Given the description of an element on the screen output the (x, y) to click on. 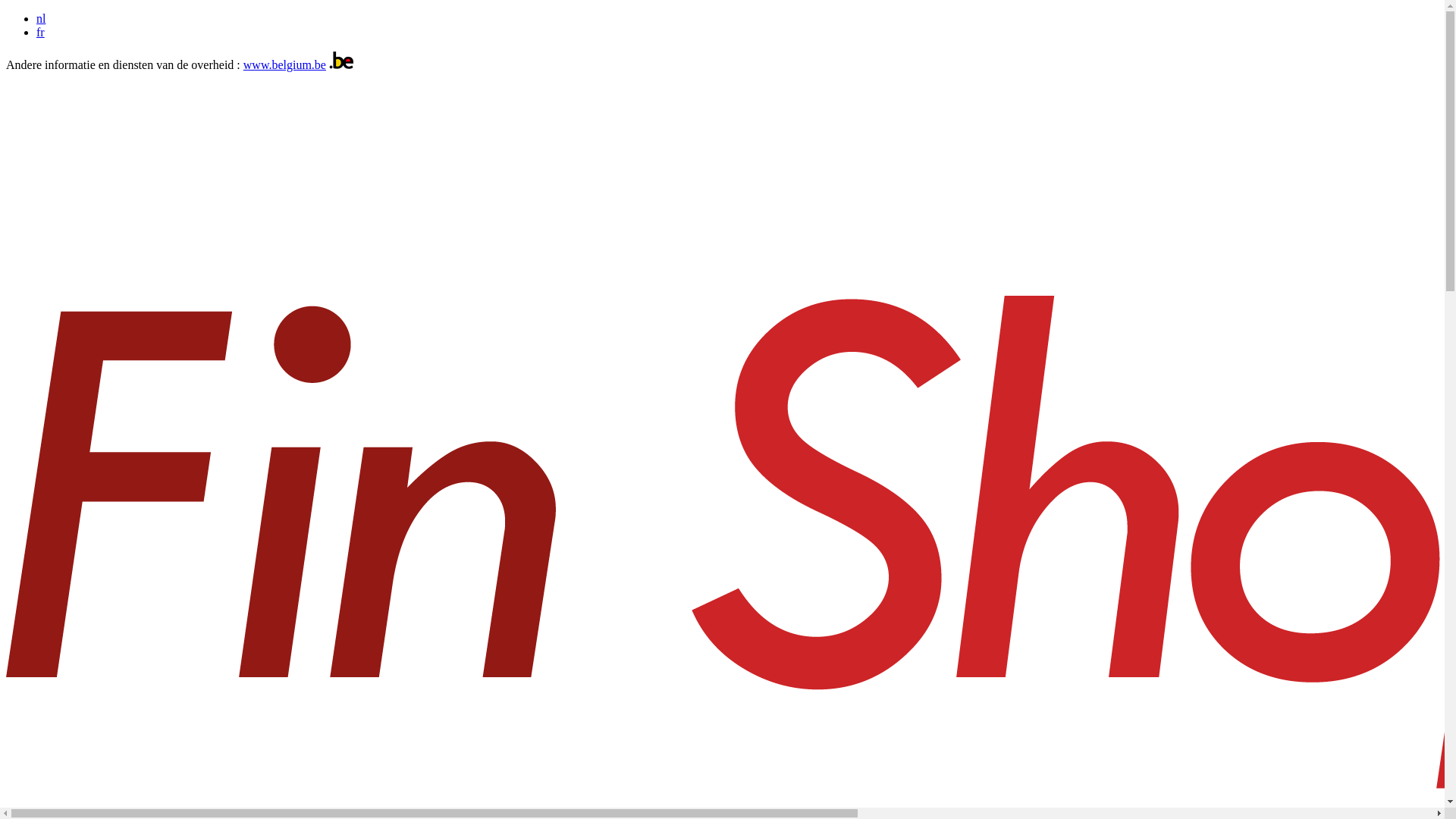
nl Element type: text (40, 18)
fr Element type: text (40, 31)
www.belgium.be Element type: text (284, 64)
